Given the description of an element on the screen output the (x, y) to click on. 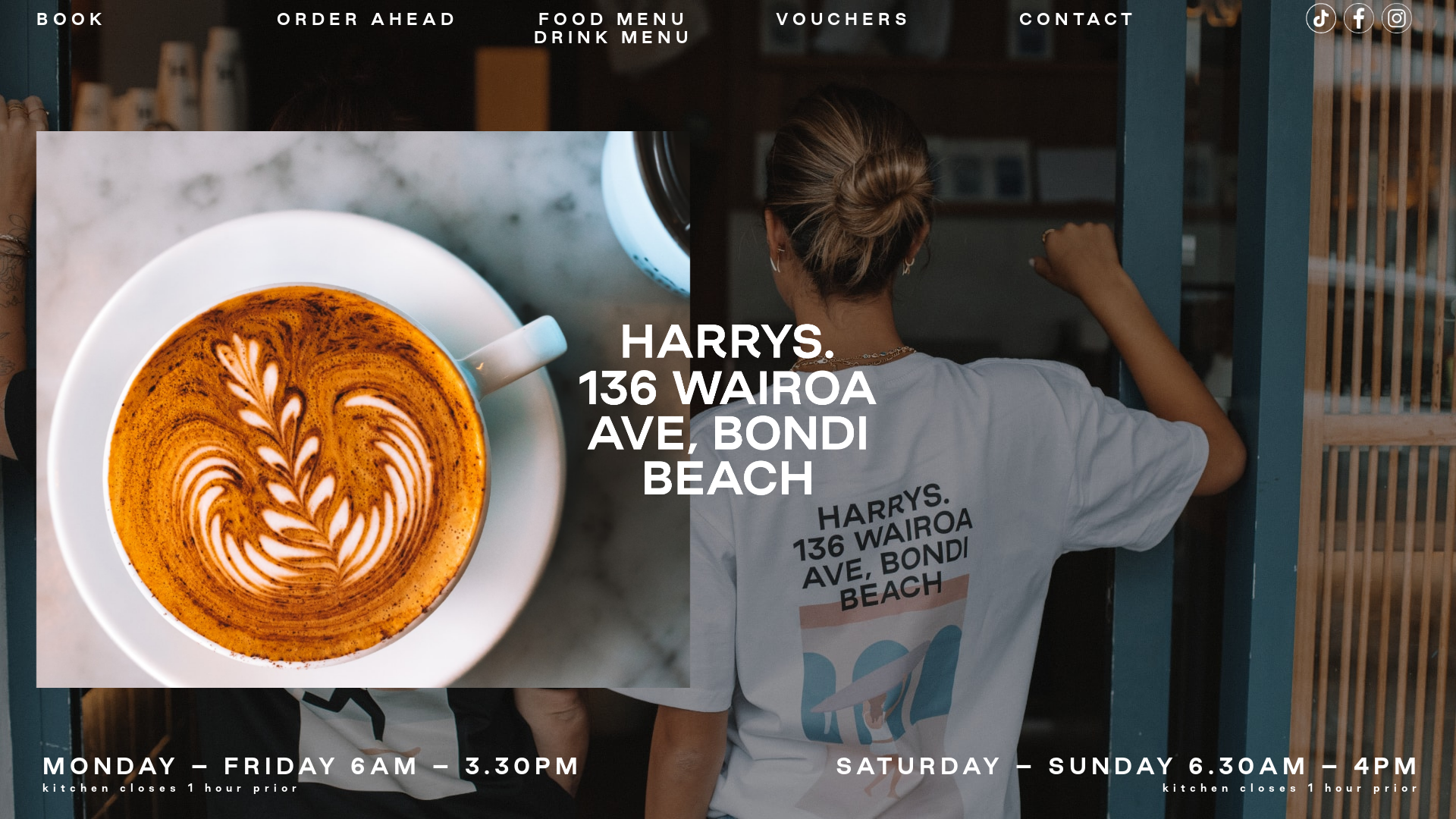
Harrys. Element type: hover (727, 409)
BOOK Element type: text (71, 18)
ORDER AHEAD Element type: text (366, 18)
DRINK MENU Element type: text (612, 37)
Number 3 Element type: hover (363, 413)
CONTACT Element type: text (1077, 18)
VOUCHERS Element type: text (842, 18)
Number 2 Element type: hover (1092, 413)
FOOD MENU Element type: text (612, 18)
